Given the description of an element on the screen output the (x, y) to click on. 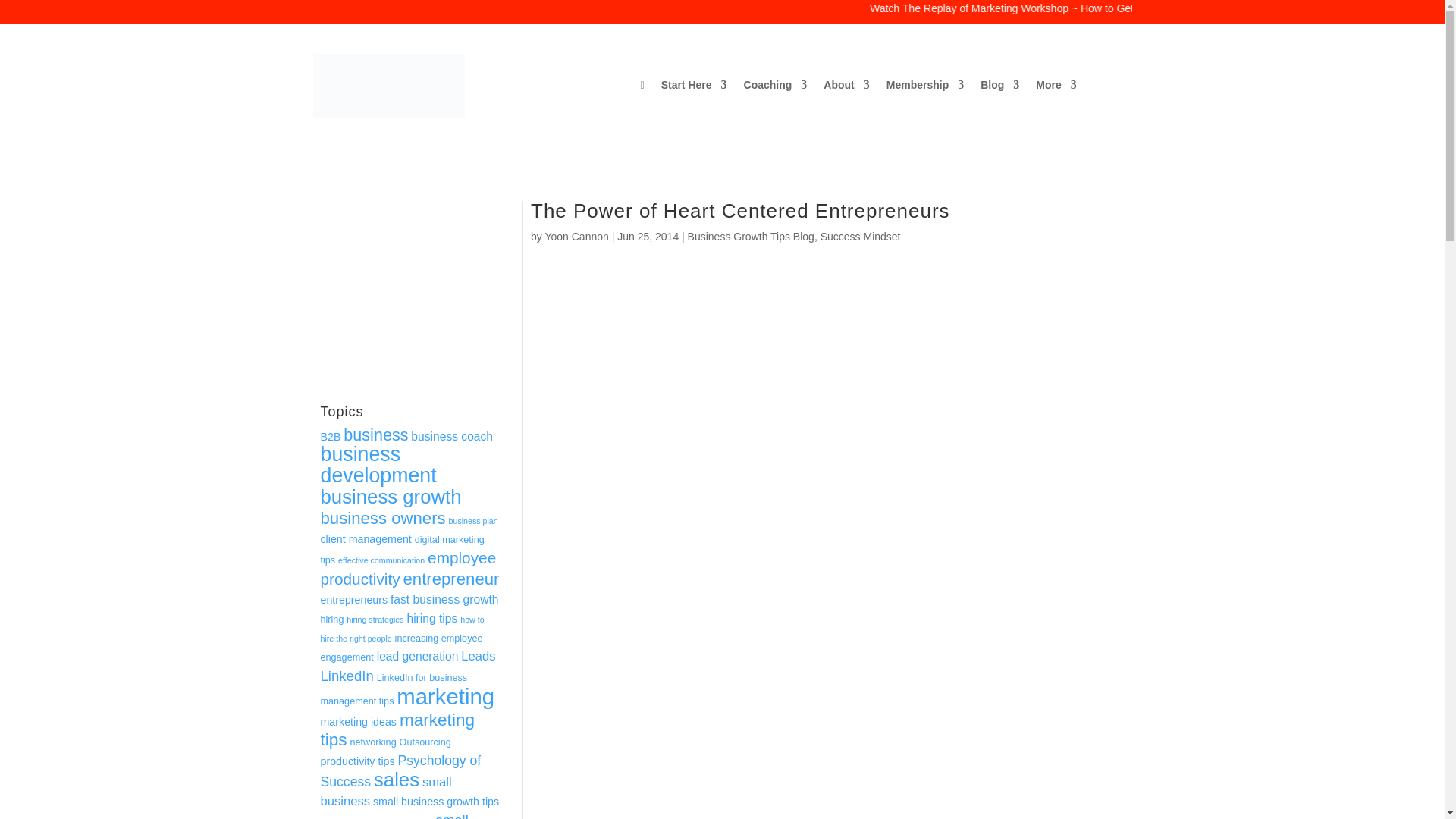
Blog (999, 88)
Membership (924, 88)
B2B (330, 436)
About (846, 88)
Start Here (693, 88)
business (375, 434)
business coach (451, 436)
More (1055, 88)
business growth (390, 496)
Paramount-Business-Coach-Yoon-Cannon-Logo-2 (388, 85)
